Given the description of an element on the screen output the (x, y) to click on. 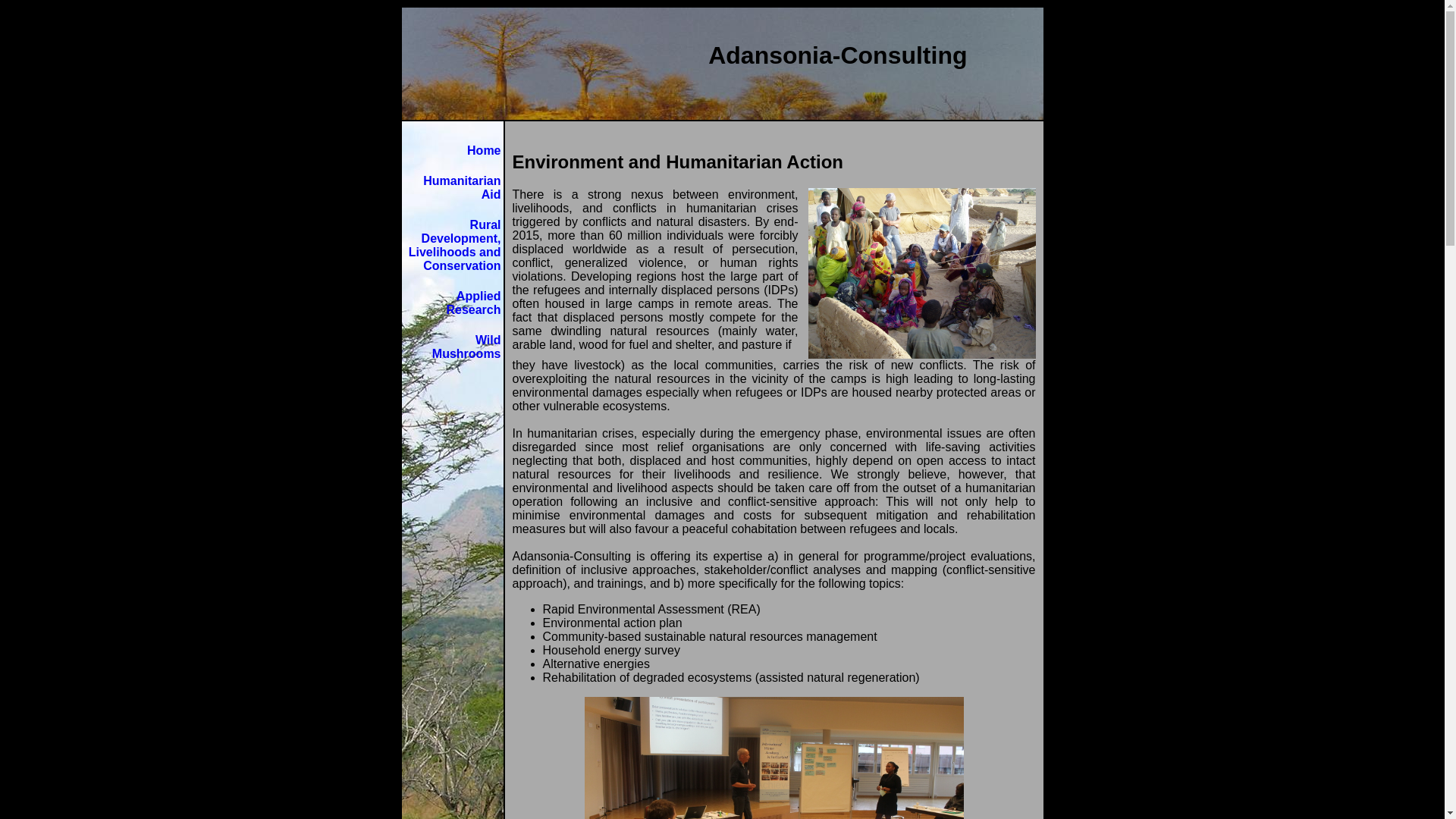
Humanitarian Aid Element type: text (461, 187)
Applied Research Element type: text (472, 302)
Wild Mushrooms Element type: text (466, 346)
Rural Development, Livelihoods and Conservation Element type: text (454, 245)
Home Element type: text (483, 150)
